Given the description of an element on the screen output the (x, y) to click on. 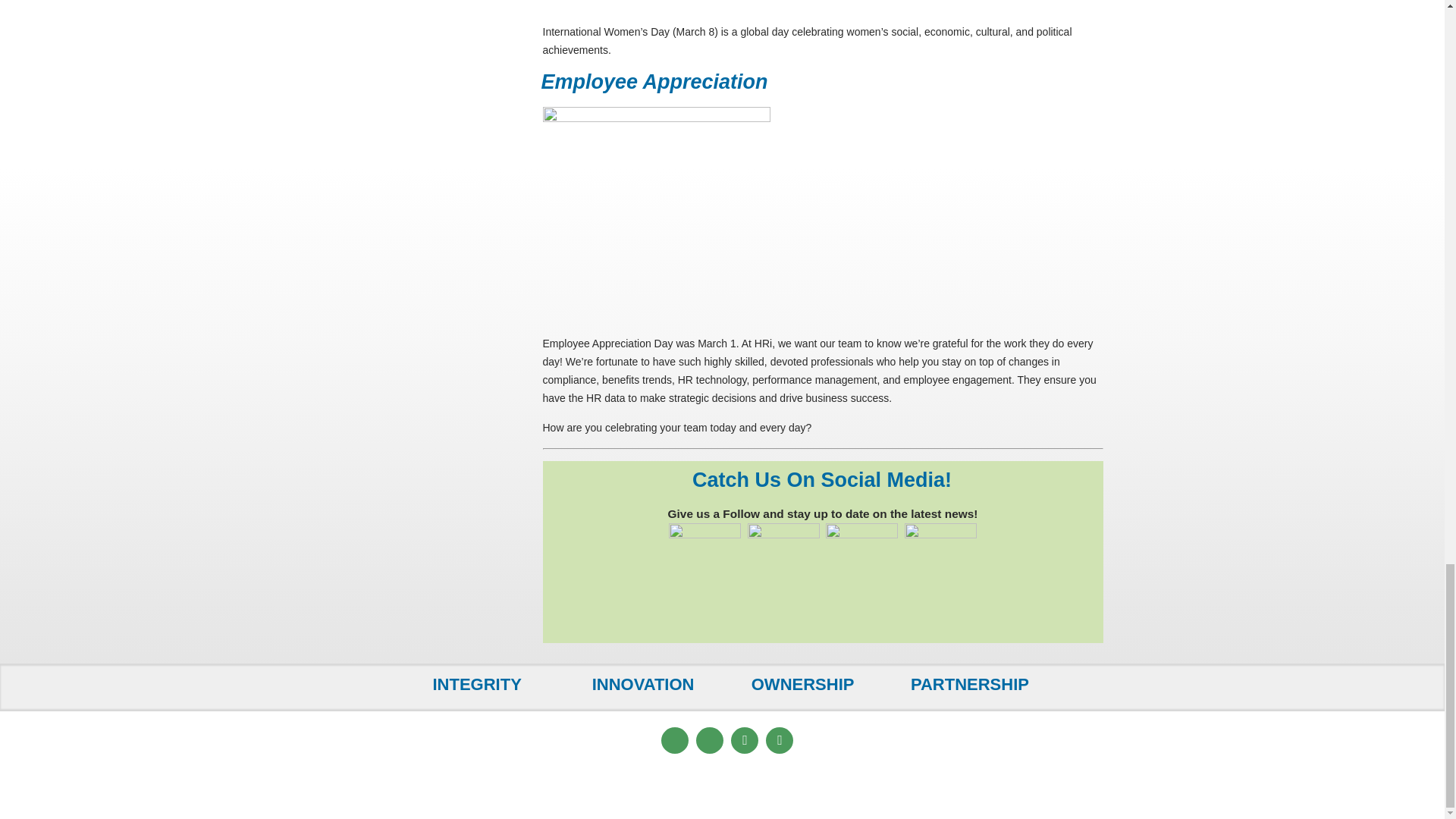
Facebook (674, 740)
LinkedIn (709, 740)
Twitter (779, 740)
410.451.4206 (569, 752)
410.451.4202 (582, 734)
YouTube (744, 740)
